Given the description of an element on the screen output the (x, y) to click on. 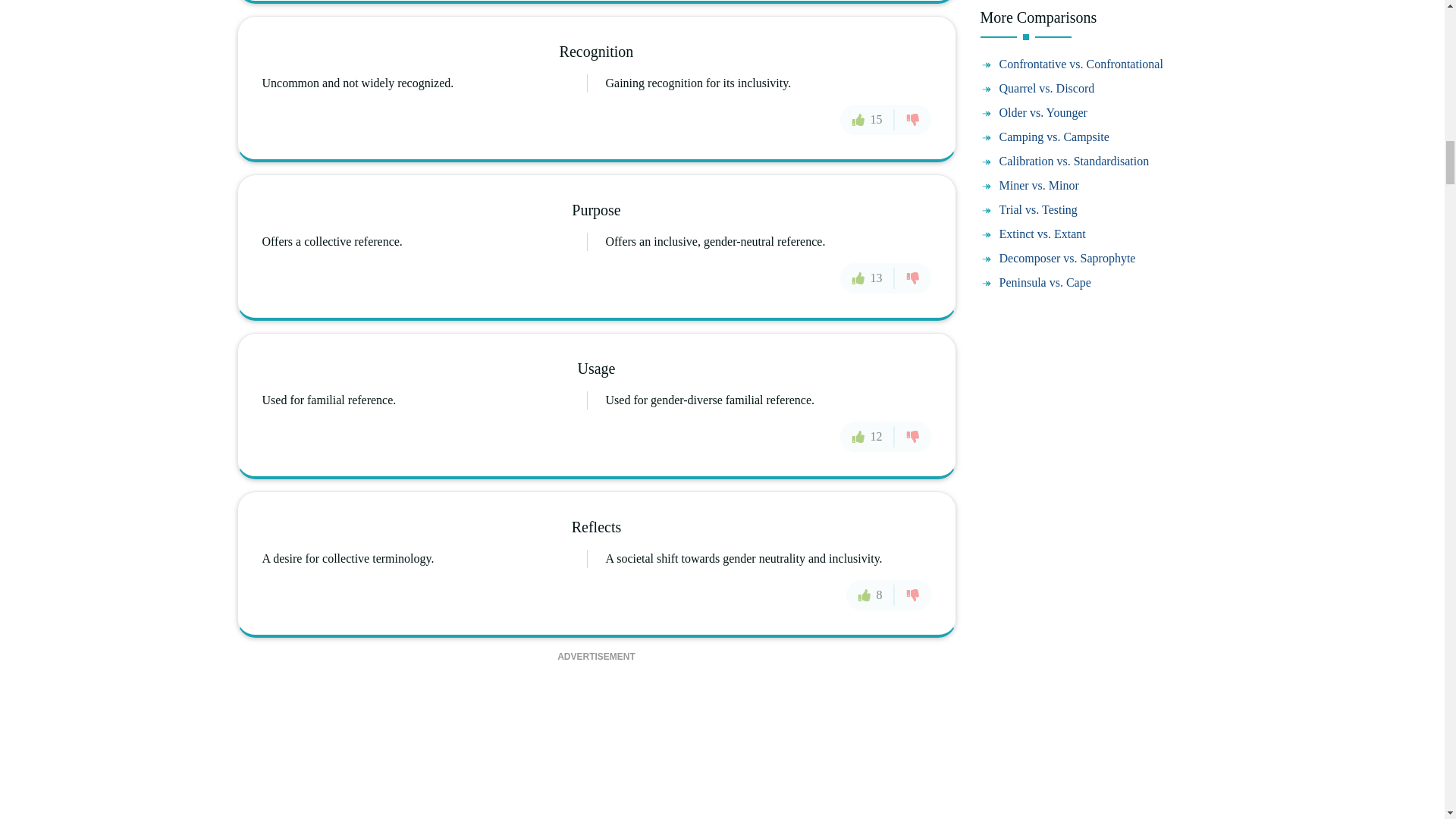
13 (867, 277)
15 (867, 119)
8 (870, 594)
12 (867, 436)
